Given the description of an element on the screen output the (x, y) to click on. 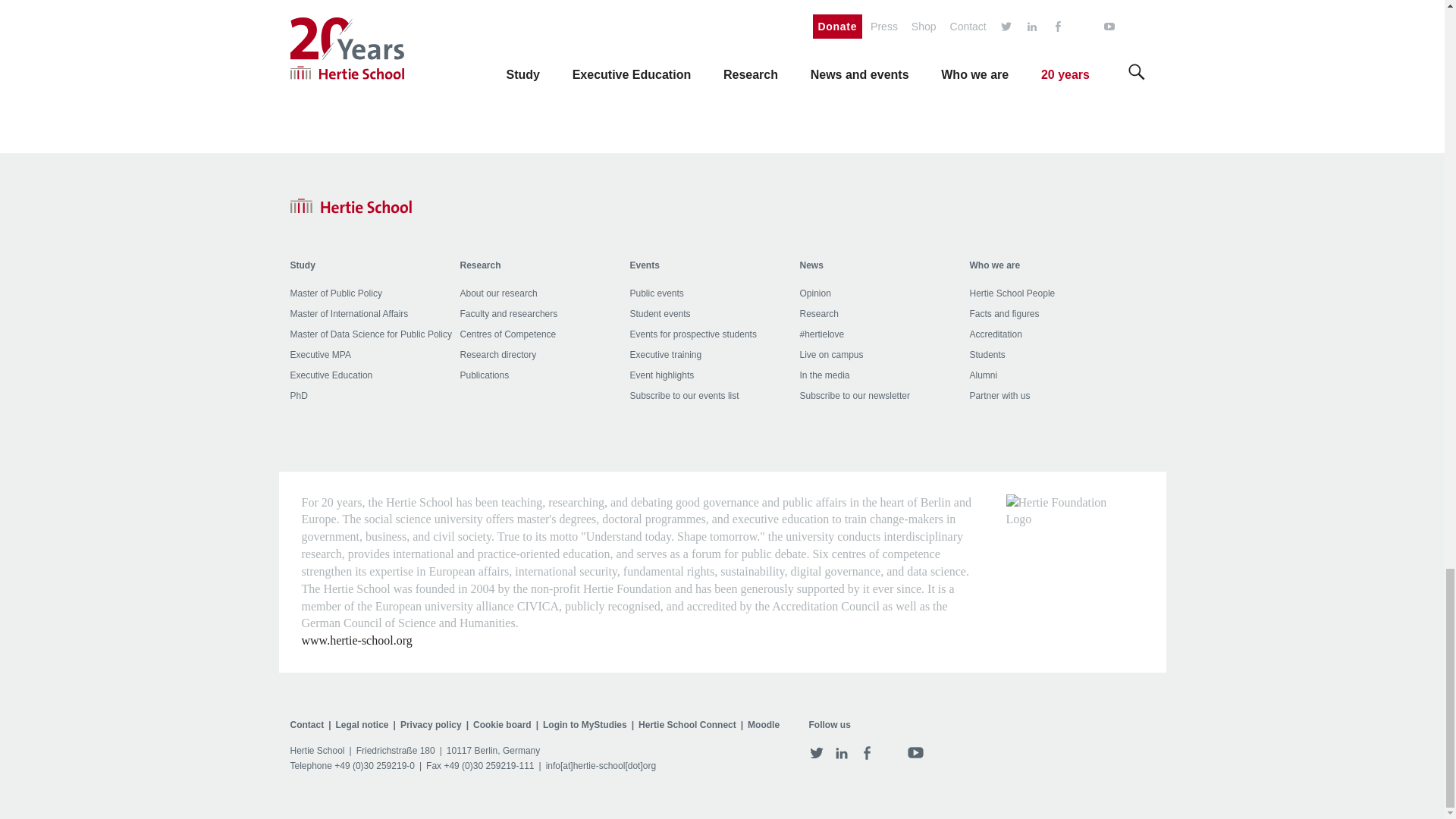
Master of Public Policy (335, 293)
Master of Data Science for Public Policy (370, 334)
Home (349, 205)
Master of International Affairs (348, 313)
